Given the description of an element on the screen output the (x, y) to click on. 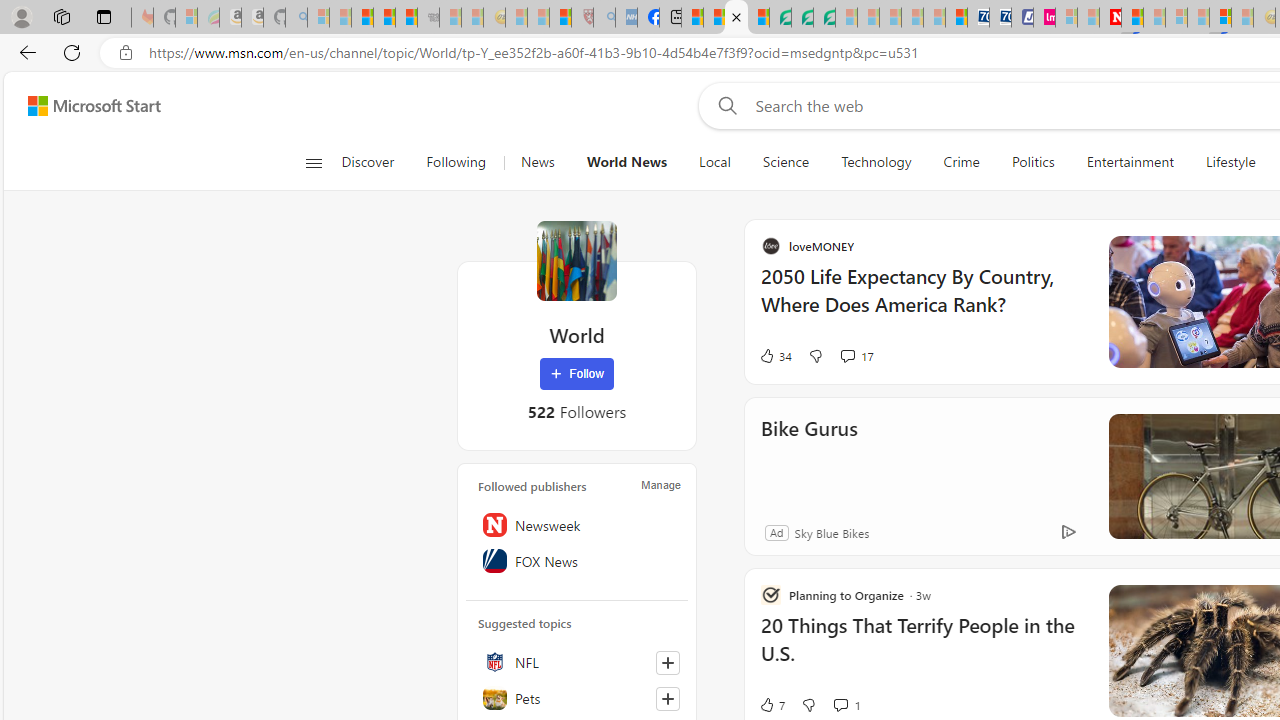
Bike Gurus (1001, 455)
LendingTree - Compare Lenders (780, 17)
NFL (577, 661)
